Given the description of an element on the screen output the (x, y) to click on. 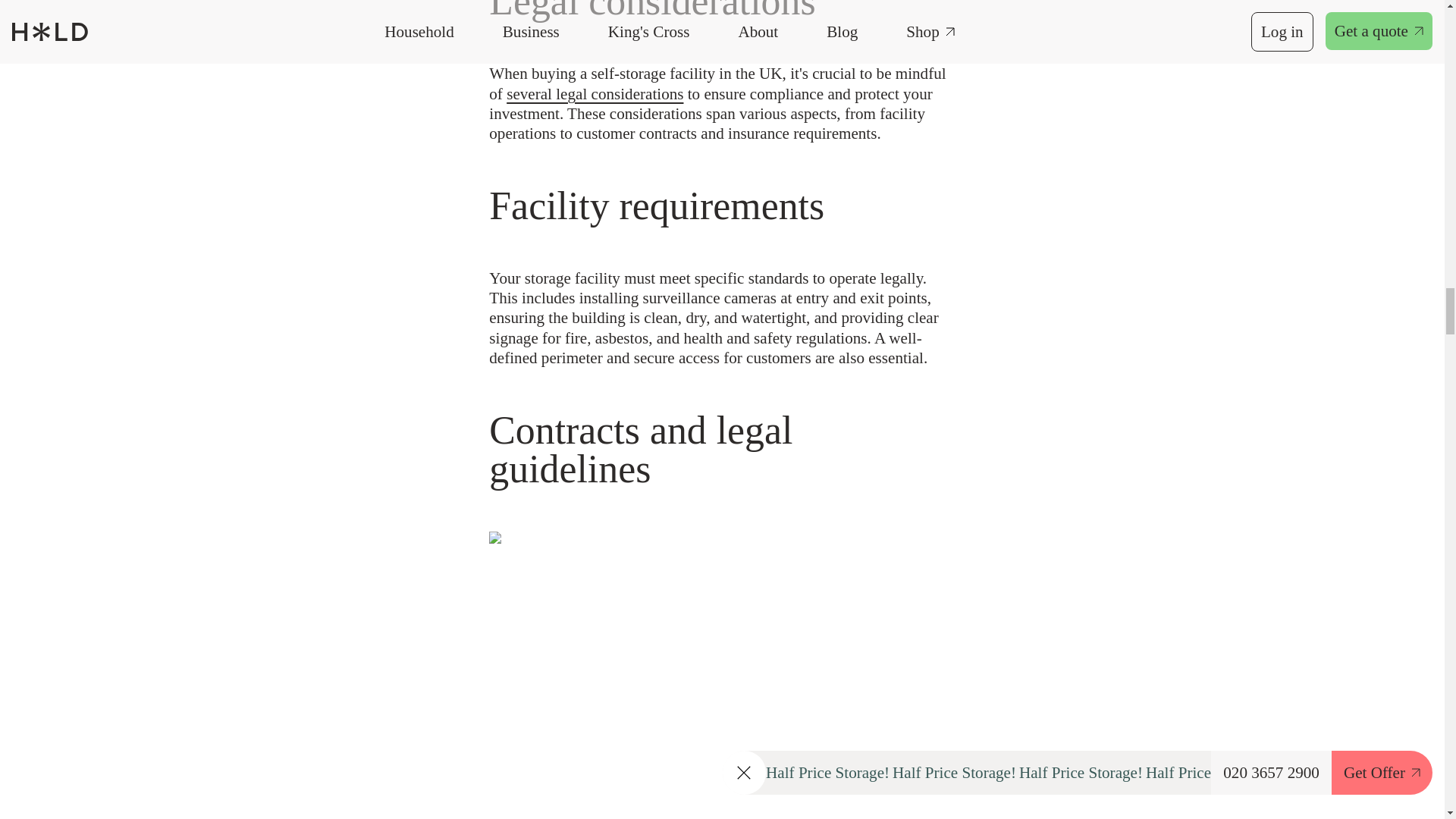
several legal considerations (594, 94)
